Given the description of an element on the screen output the (x, y) to click on. 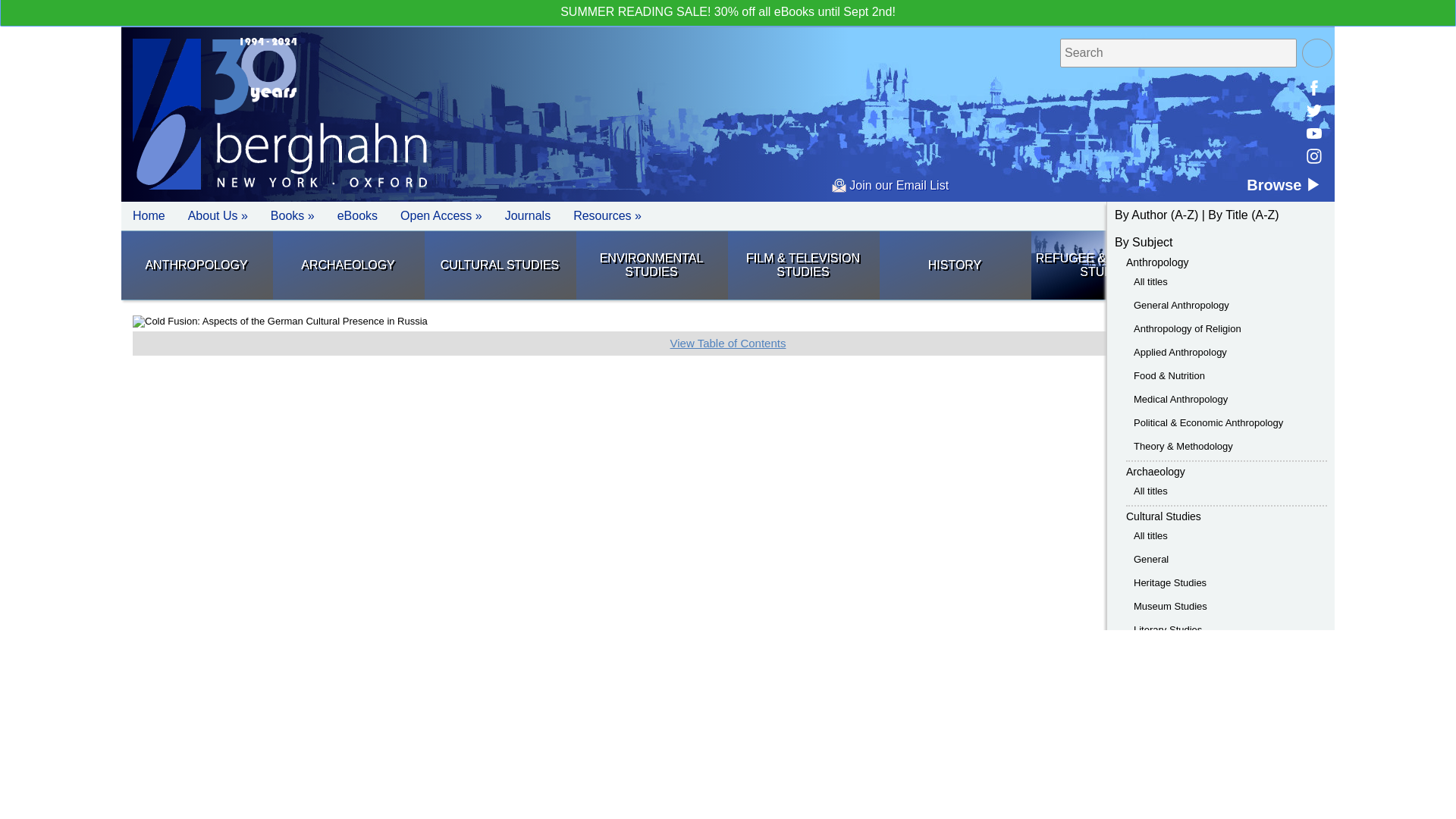
General Anthropology (1181, 305)
Cultural Studies (1163, 516)
Anthropology of Religion (1187, 328)
Sociology (1258, 264)
Anthropology (195, 264)
Environmental Studies (651, 265)
Cultural Studies (500, 264)
Museum Studies (1170, 605)
go (1316, 52)
All titles (1150, 535)
By Author (1141, 214)
All titles (1150, 281)
Archaeology (1155, 471)
History (954, 264)
Berghahn Books on Facebook (1313, 87)
